Given the description of an element on the screen output the (x, y) to click on. 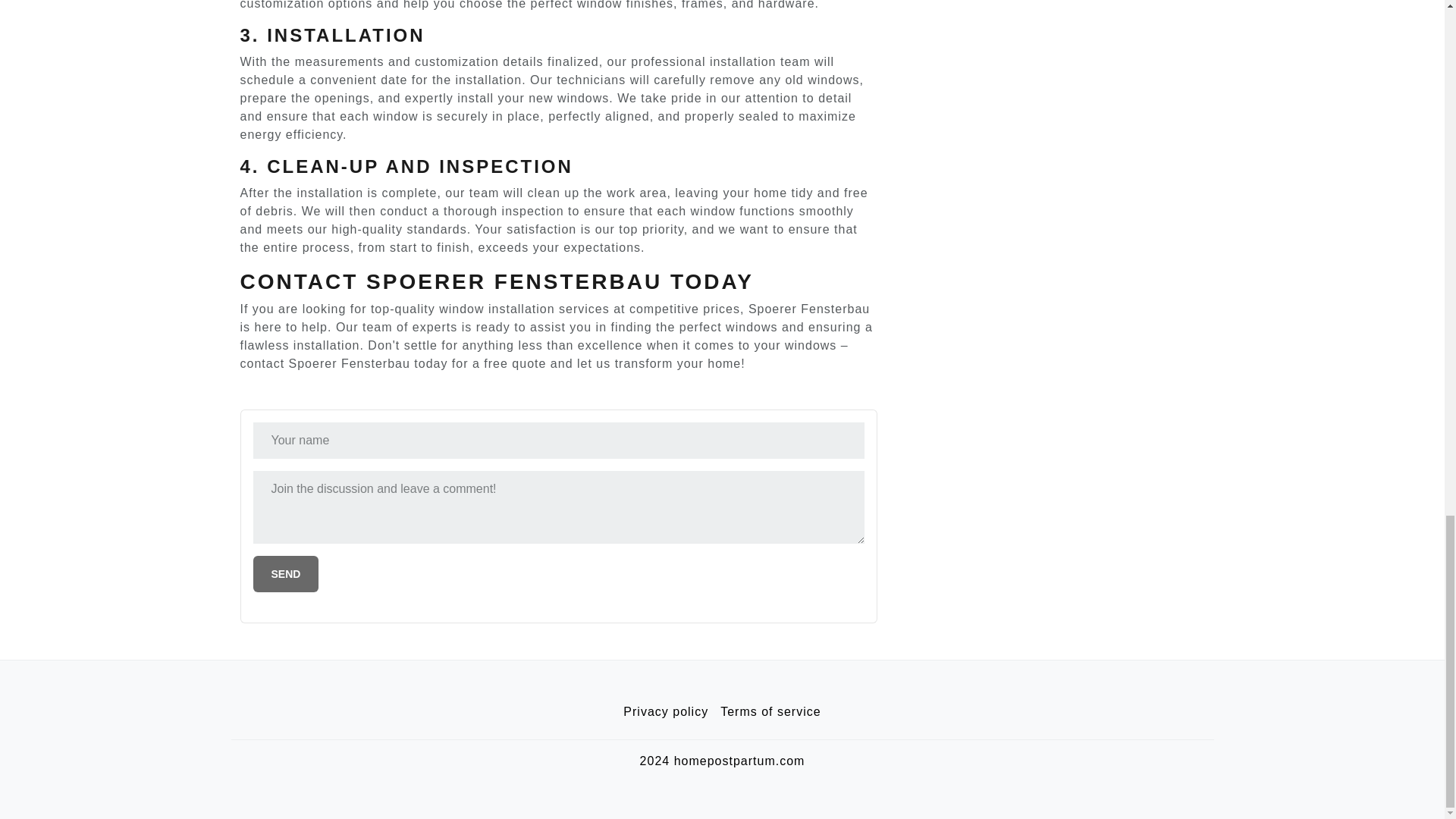
Send (285, 574)
Send (285, 574)
Privacy policy (665, 711)
Terms of service (770, 711)
